Given the description of an element on the screen output the (x, y) to click on. 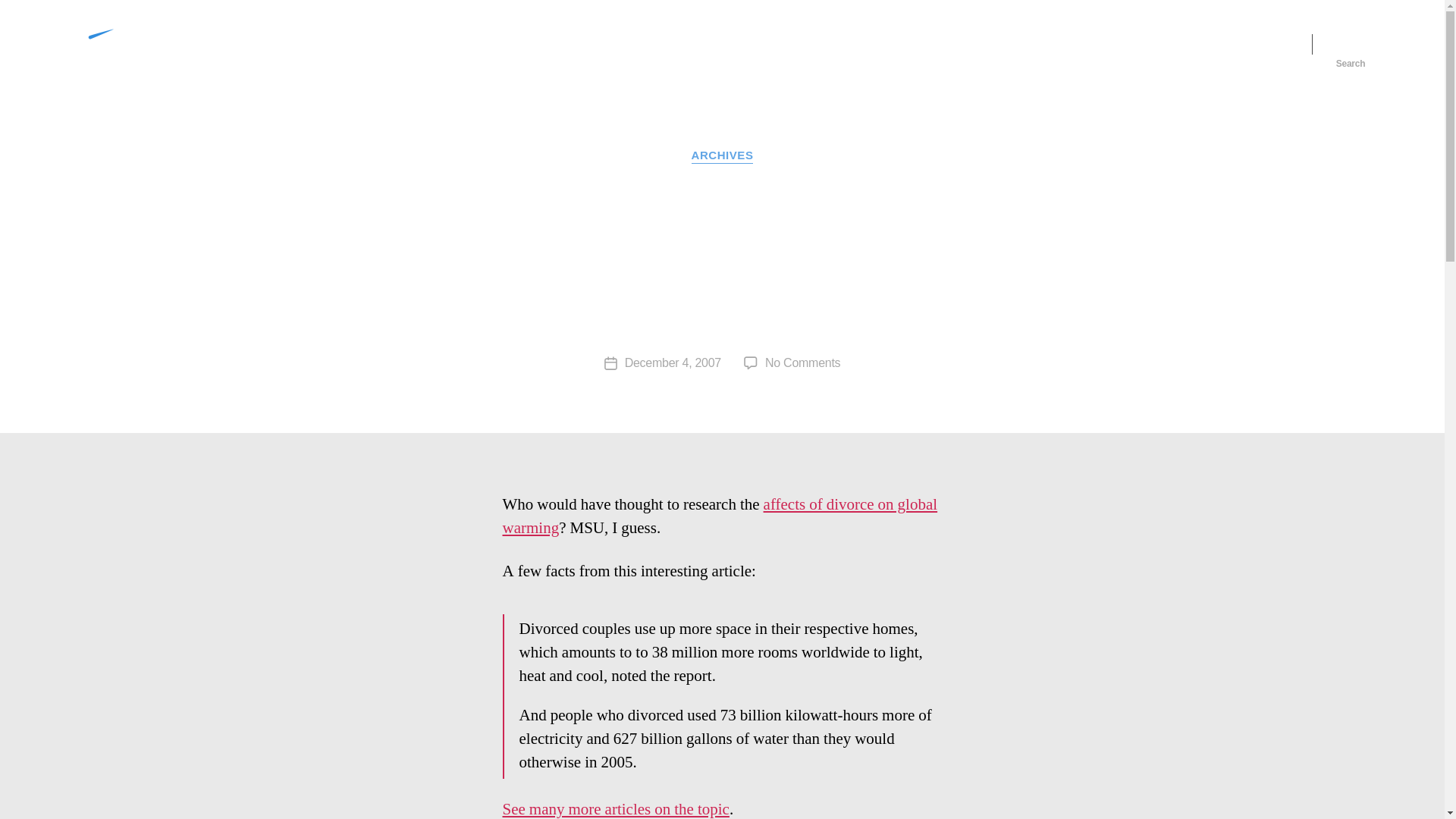
Search (1350, 43)
See many more articles on the topic (615, 809)
December 4, 2007 (672, 362)
ARCHIVES (802, 362)
affects of divorce on global warming (722, 155)
